Given the description of an element on the screen output the (x, y) to click on. 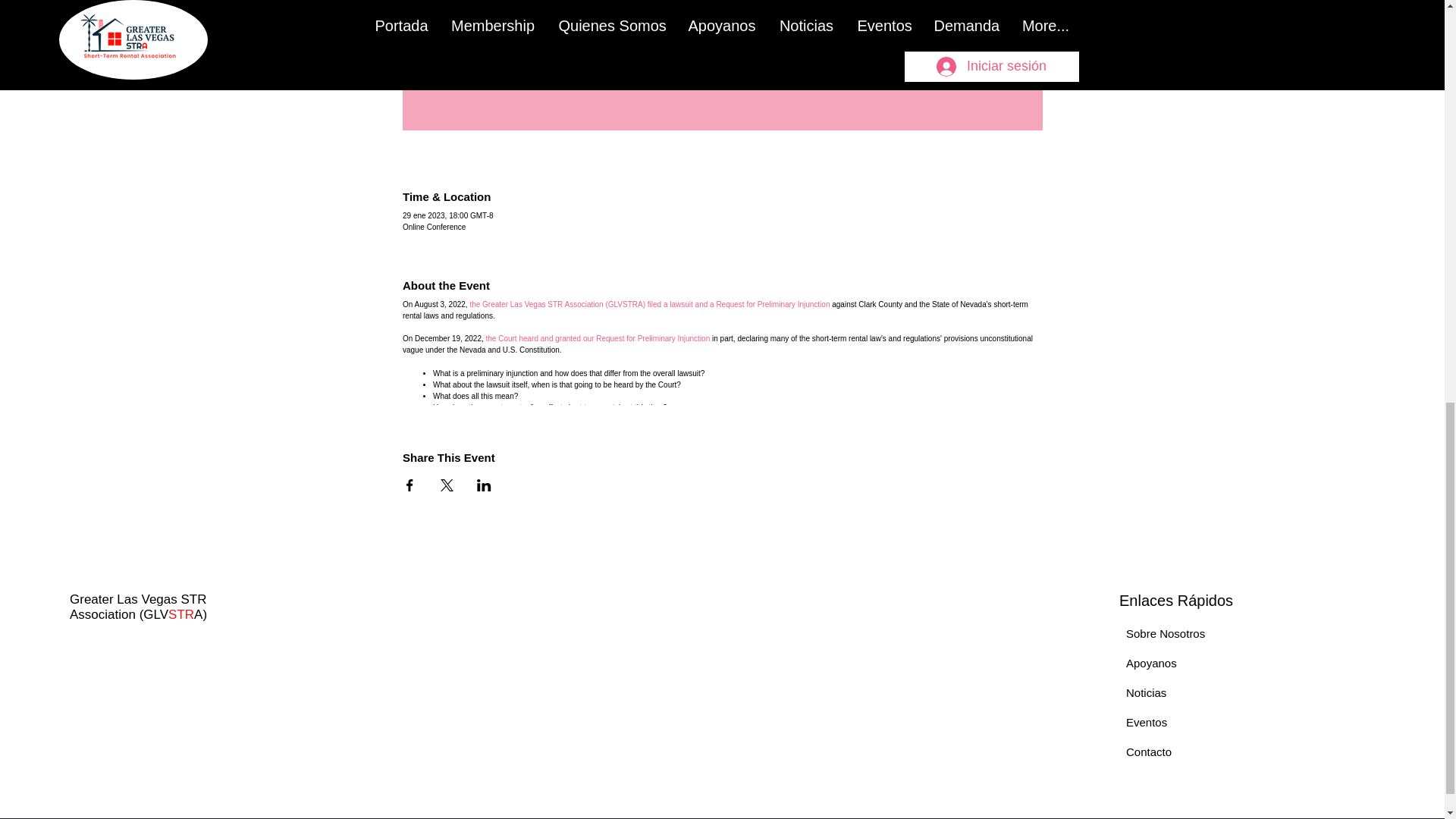
Eventos (1146, 721)
Contacto (1148, 751)
Noticias (1145, 692)
Apoyanos (1150, 662)
Sobre Nosotros (1165, 633)
